Given the description of an element on the screen output the (x, y) to click on. 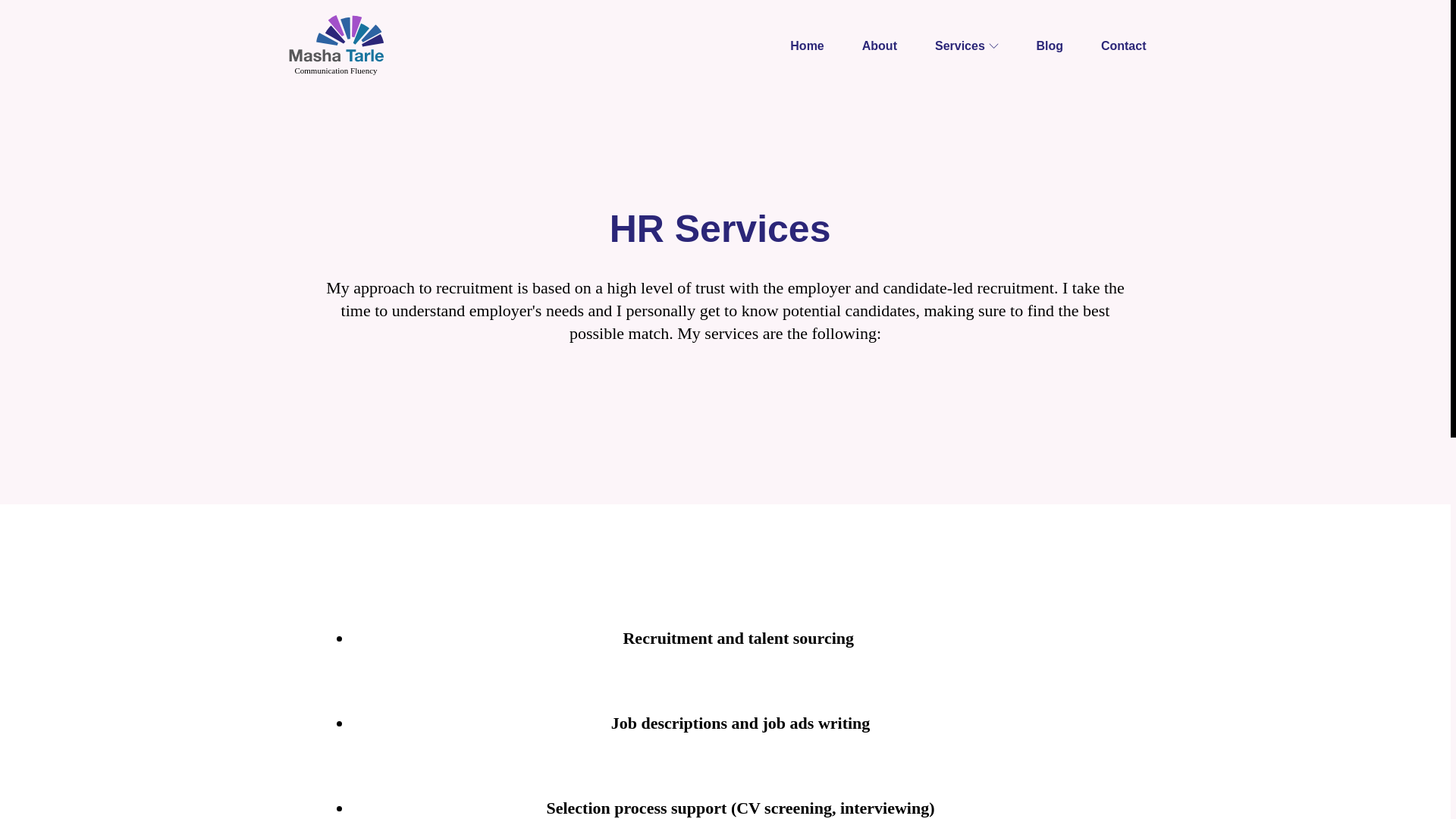
Blog (1049, 44)
Home (806, 44)
Communication Fluency (335, 45)
About (880, 44)
Services (966, 44)
Contact (1123, 44)
